Given the description of an element on the screen output the (x, y) to click on. 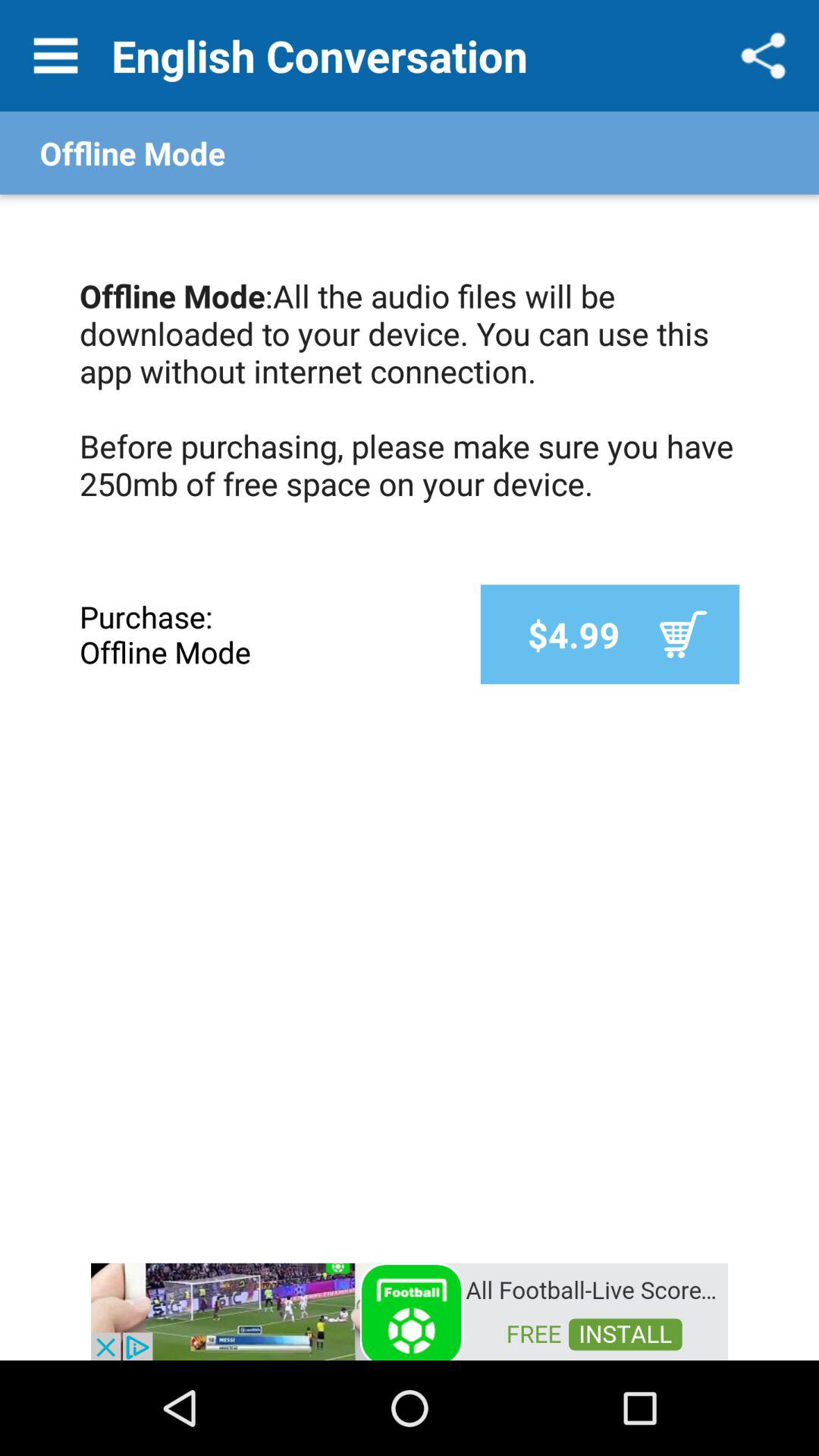
open advertisement (409, 1310)
